Given the description of an element on the screen output the (x, y) to click on. 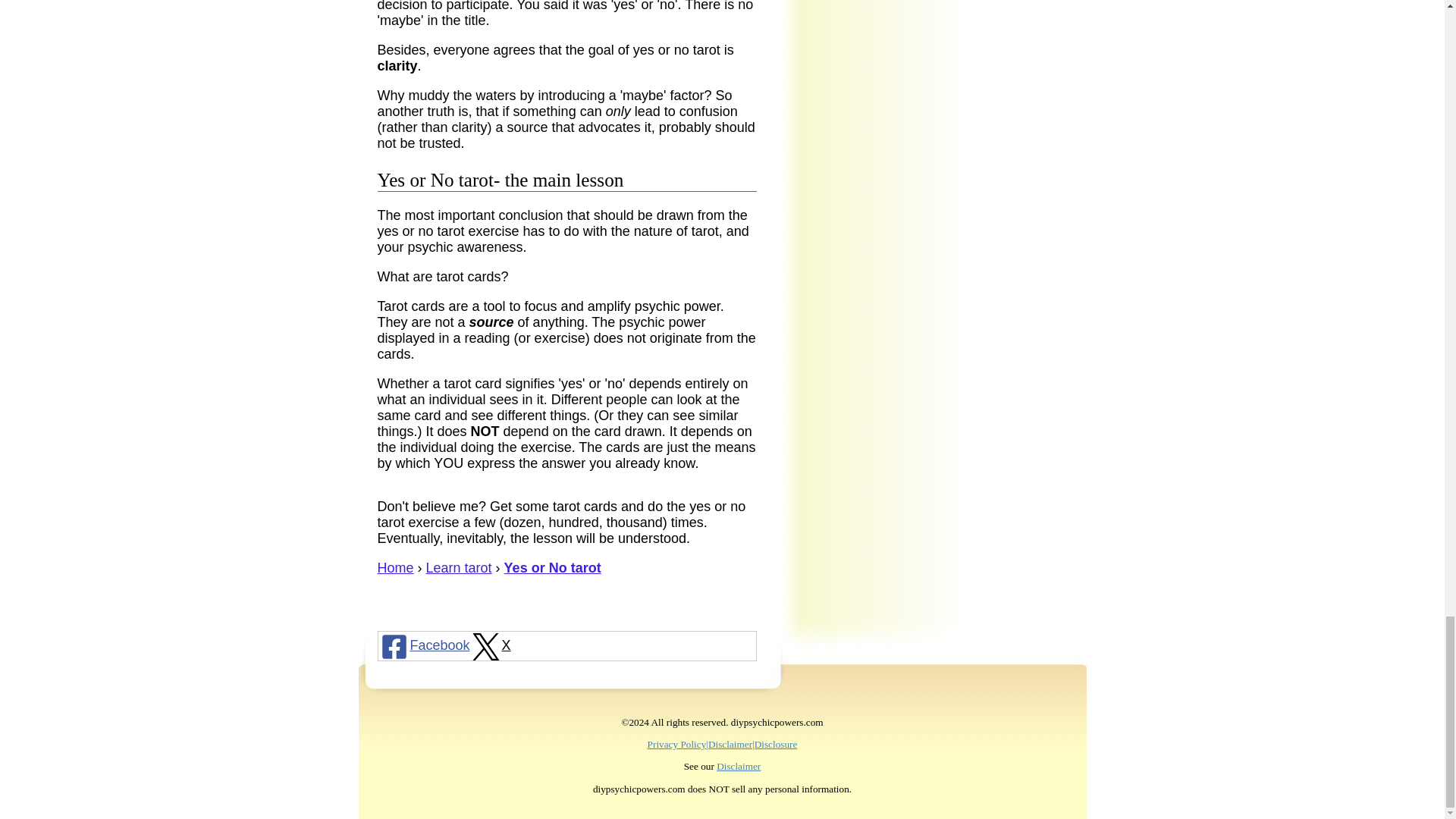
Yes or No tarot (552, 567)
Disclaimer (738, 766)
Home (395, 567)
Learn tarot (459, 567)
X (490, 645)
Facebook (422, 645)
